Given the description of an element on the screen output the (x, y) to click on. 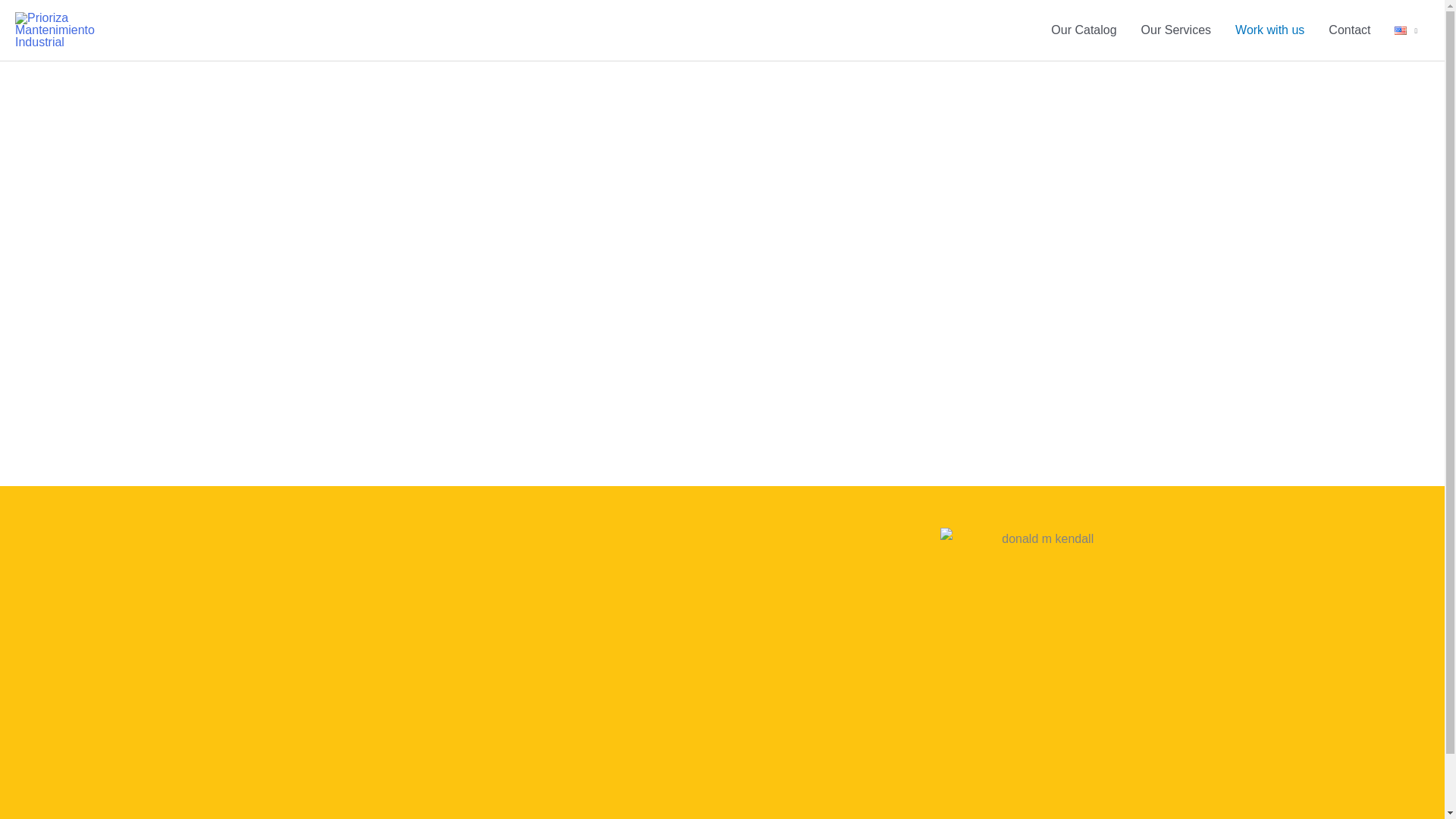
Contact (1348, 30)
Our Catalog (1083, 30)
Work with us (1269, 30)
Our Services (1176, 30)
